Given the description of an element on the screen output the (x, y) to click on. 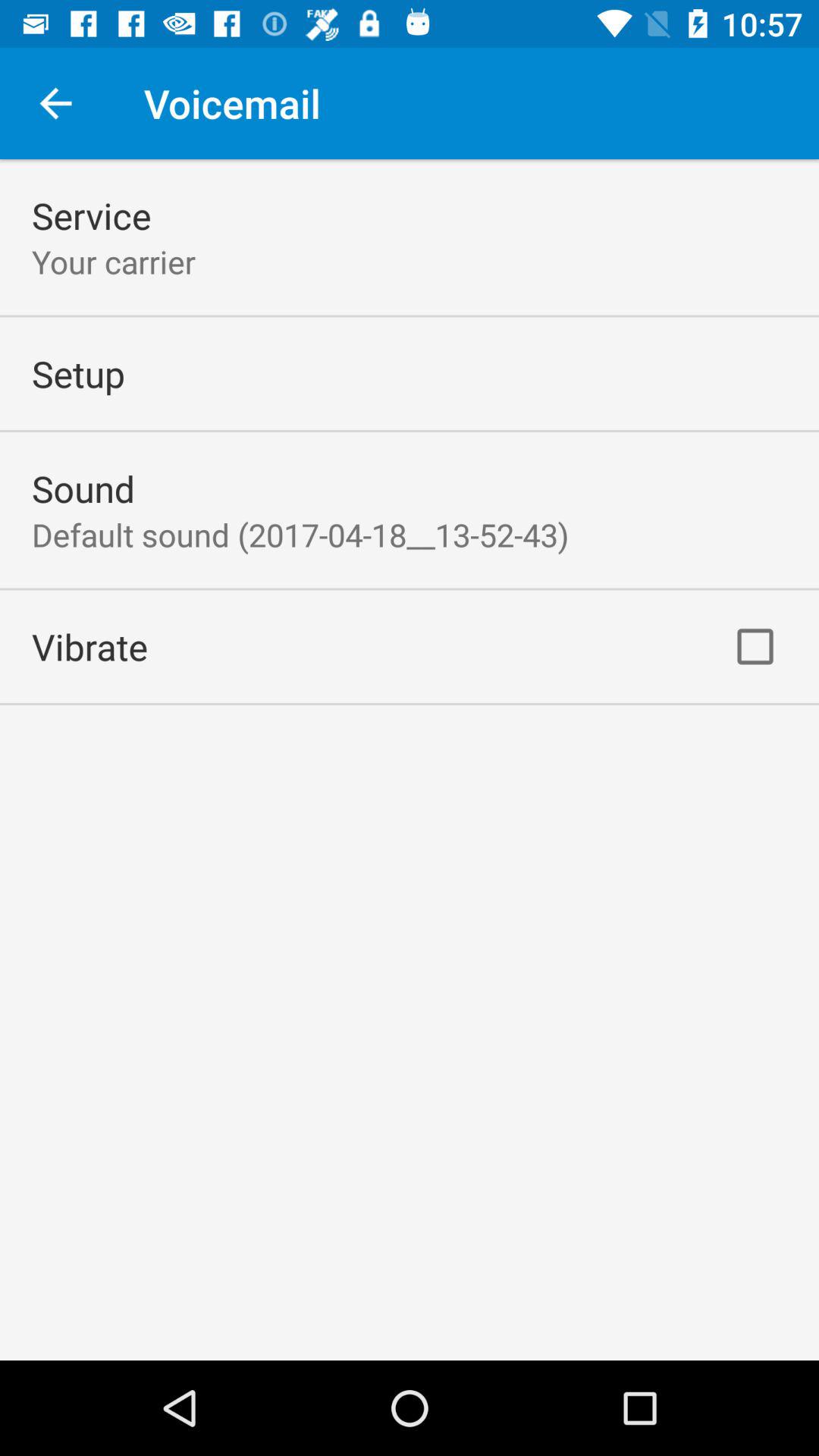
turn on the vibrate (89, 646)
